Given the description of an element on the screen output the (x, y) to click on. 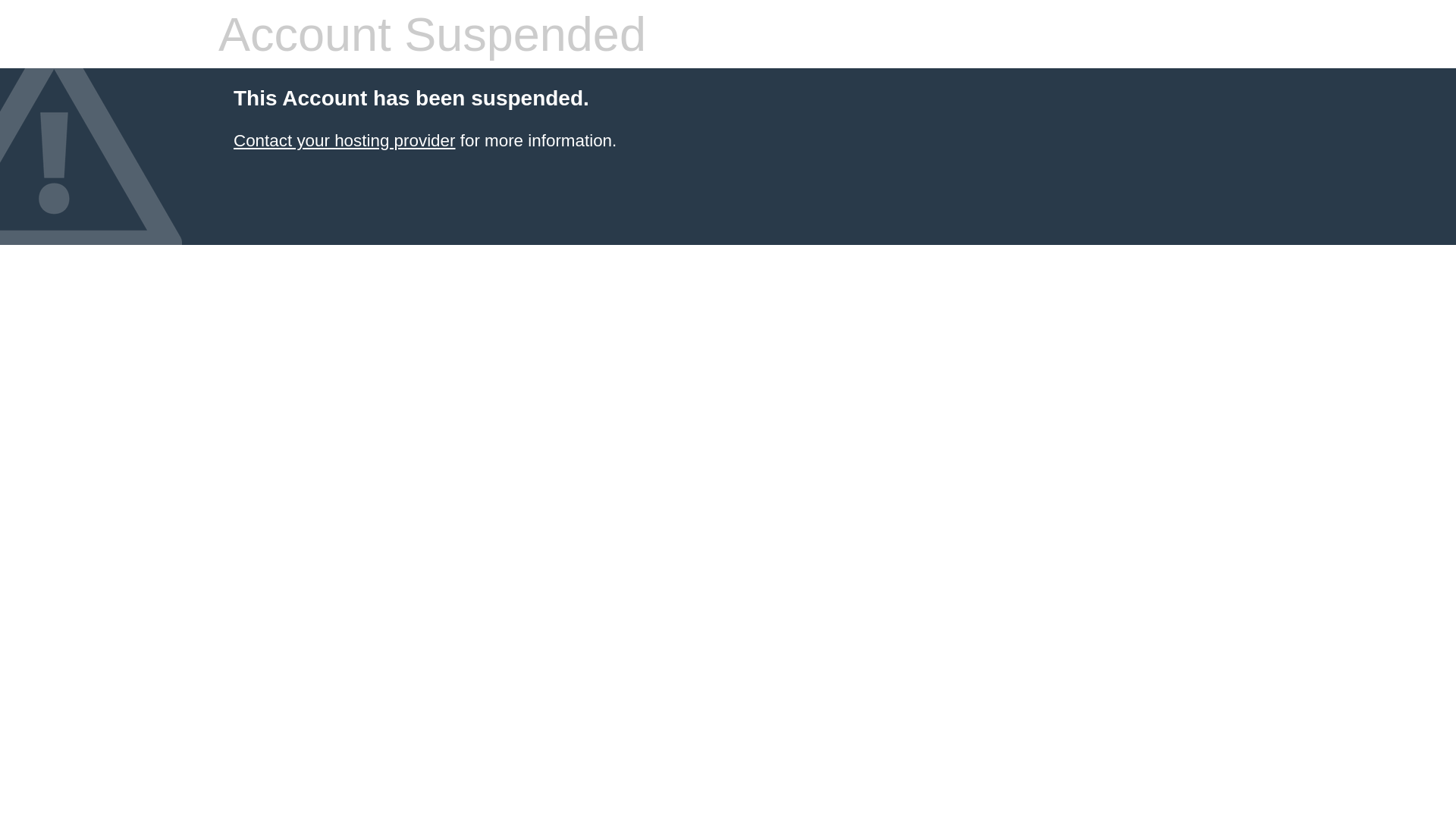
Contact your hosting provider Element type: text (344, 140)
